Given the description of an element on the screen output the (x, y) to click on. 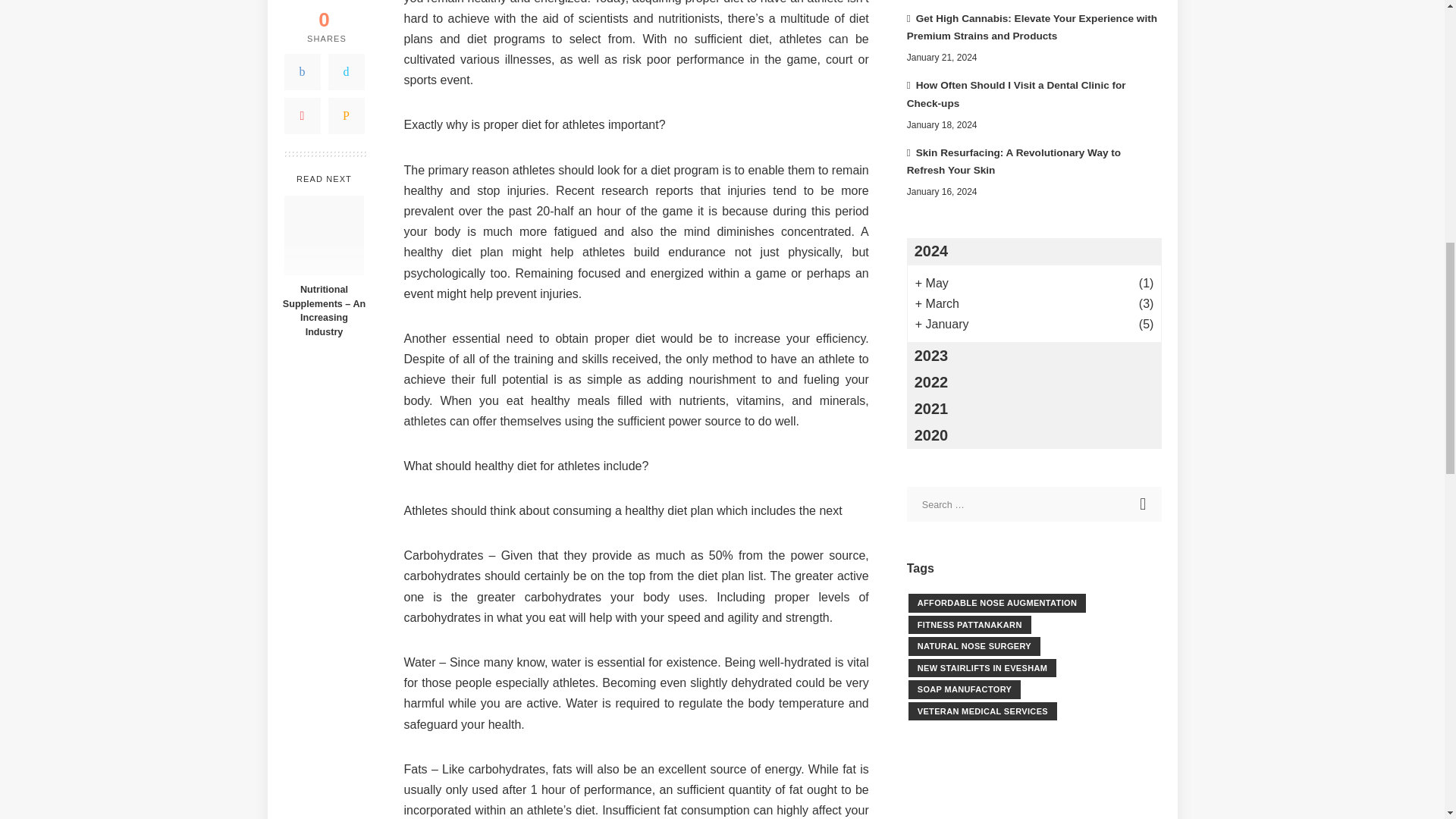
Search (1143, 503)
Search (1143, 503)
